Given the description of an element on the screen output the (x, y) to click on. 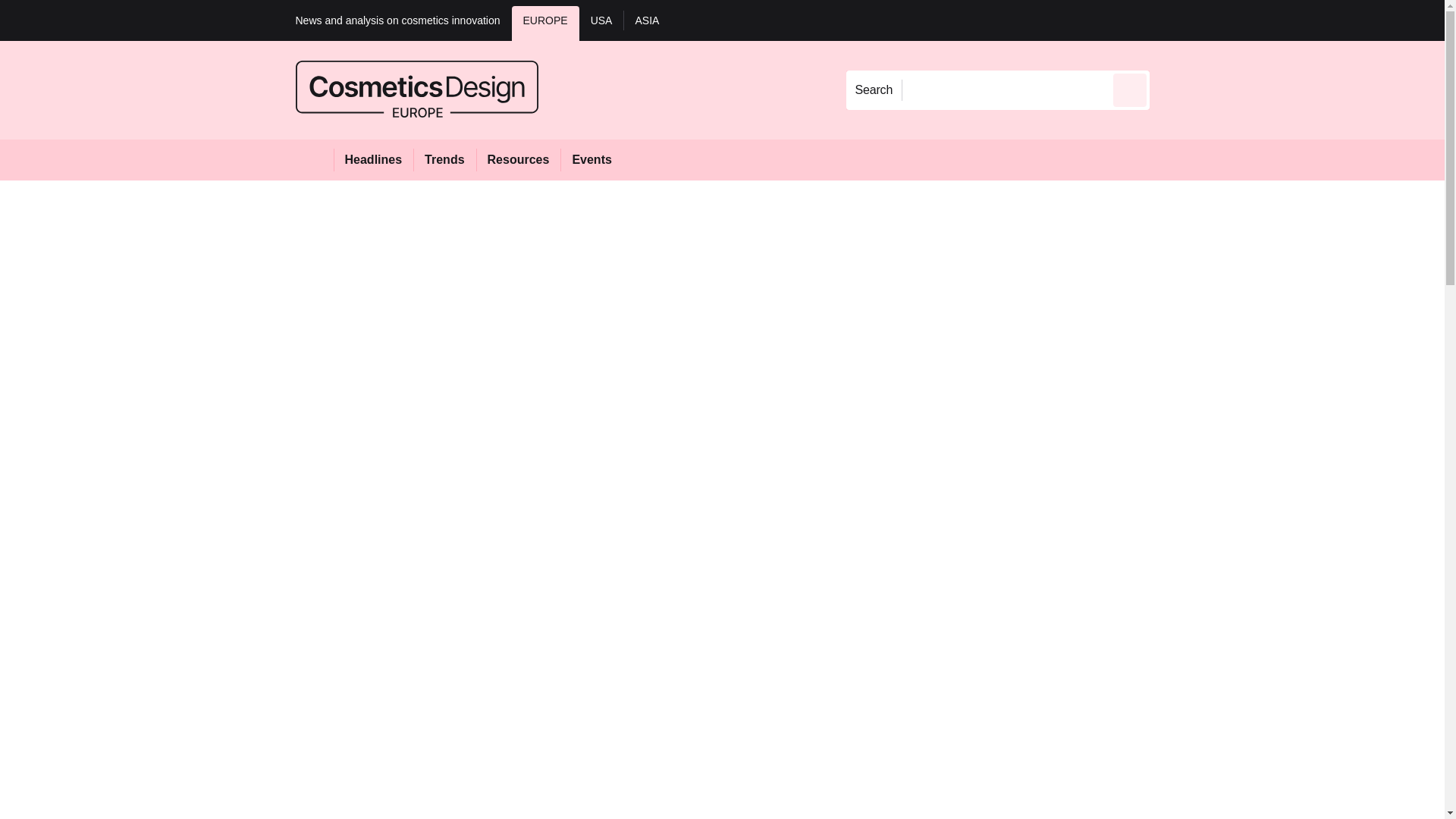
ASIA (646, 22)
Home (314, 159)
REGISTER (1250, 20)
My account (1256, 20)
USA (601, 22)
Home (313, 159)
Sign in (1171, 20)
Headlines (373, 159)
Trends (444, 159)
Sign out (1174, 20)
